Given the description of an element on the screen output the (x, y) to click on. 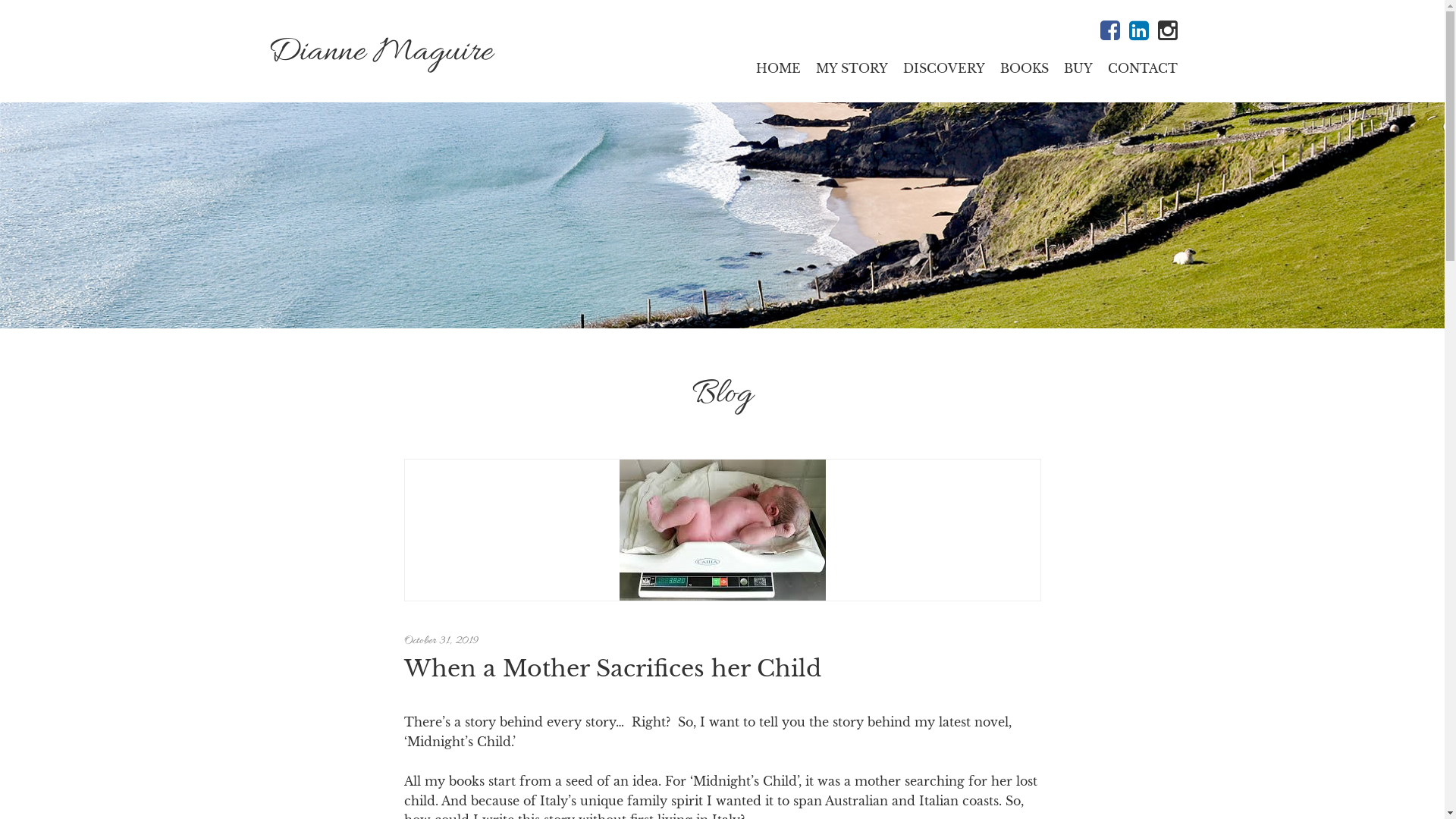
BUY Element type: text (1077, 68)
DISCOVERY Element type: text (943, 68)
CONTACT Element type: text (1141, 68)
BOOKS Element type: text (1023, 68)
HOME Element type: text (777, 68)
MY STORY Element type: text (851, 68)
Dianne Maguire Element type: text (378, 52)
